Given the description of an element on the screen output the (x, y) to click on. 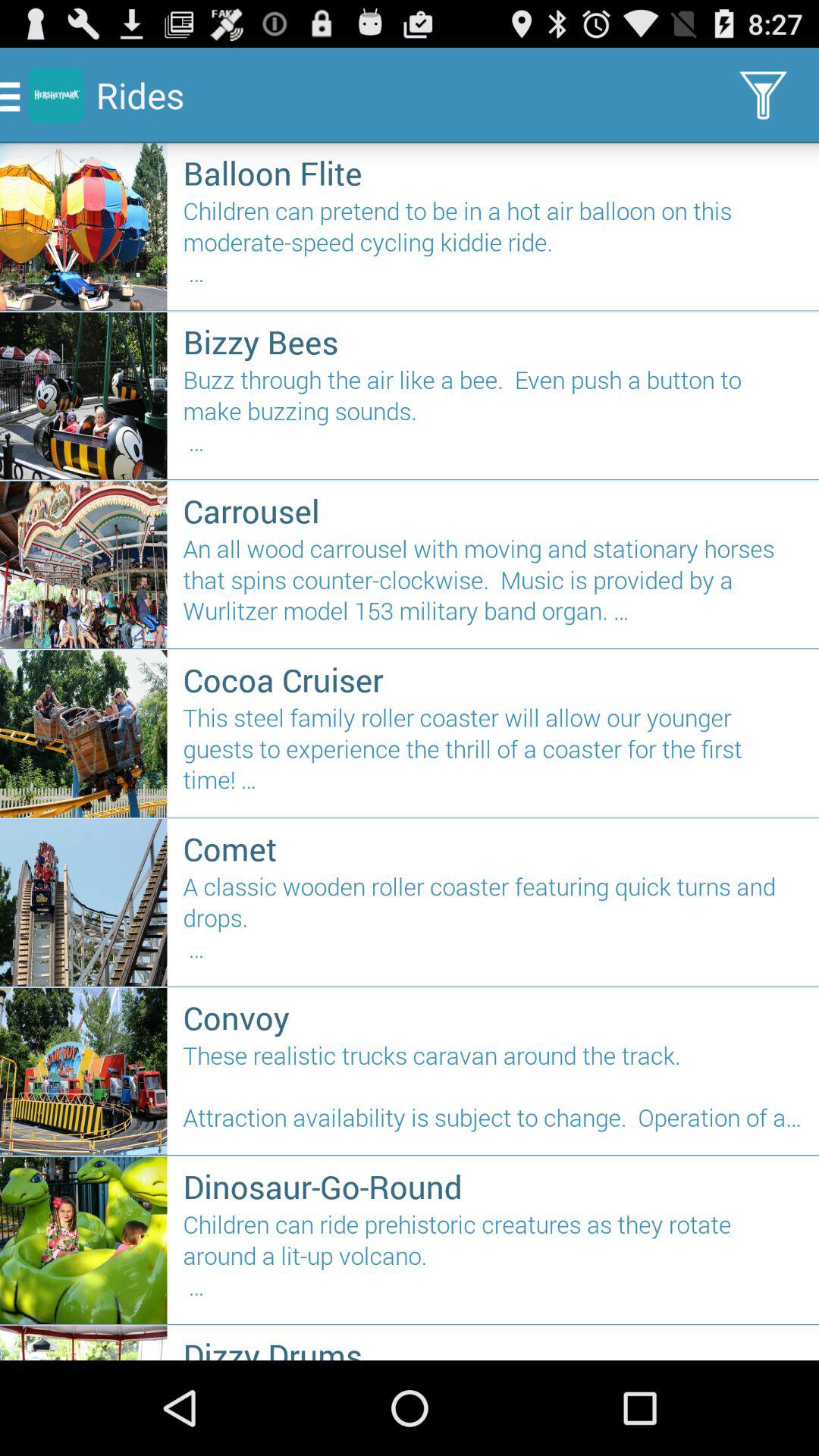
jump to buzz through the icon (493, 417)
